Given the description of an element on the screen output the (x, y) to click on. 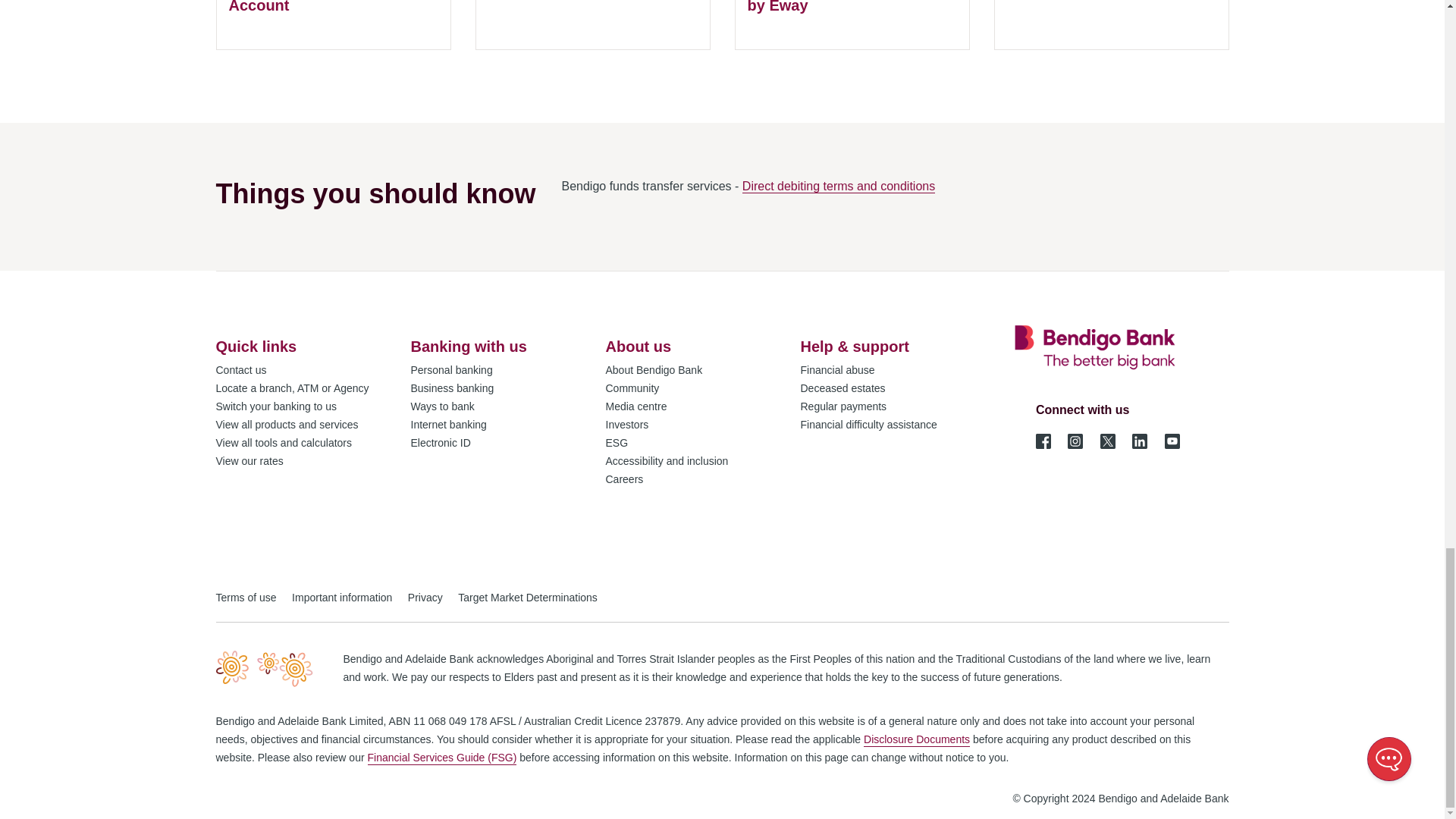
Switch your banking to us (275, 406)
Investors (626, 424)
View our rates (248, 461)
Community (632, 388)
Media centre (635, 406)
View all tools and calculators (283, 443)
Locate a branch, ATM or Agency (291, 388)
Business banking (452, 388)
Accessibility and inclusion (666, 461)
About Bendigo Bank (653, 370)
Careers with Bendigo (624, 479)
Contact us (240, 370)
Bendigo Funds Transfer terms and conditions (838, 186)
View all products and services (286, 424)
ESG (616, 443)
